Given the description of an element on the screen output the (x, y) to click on. 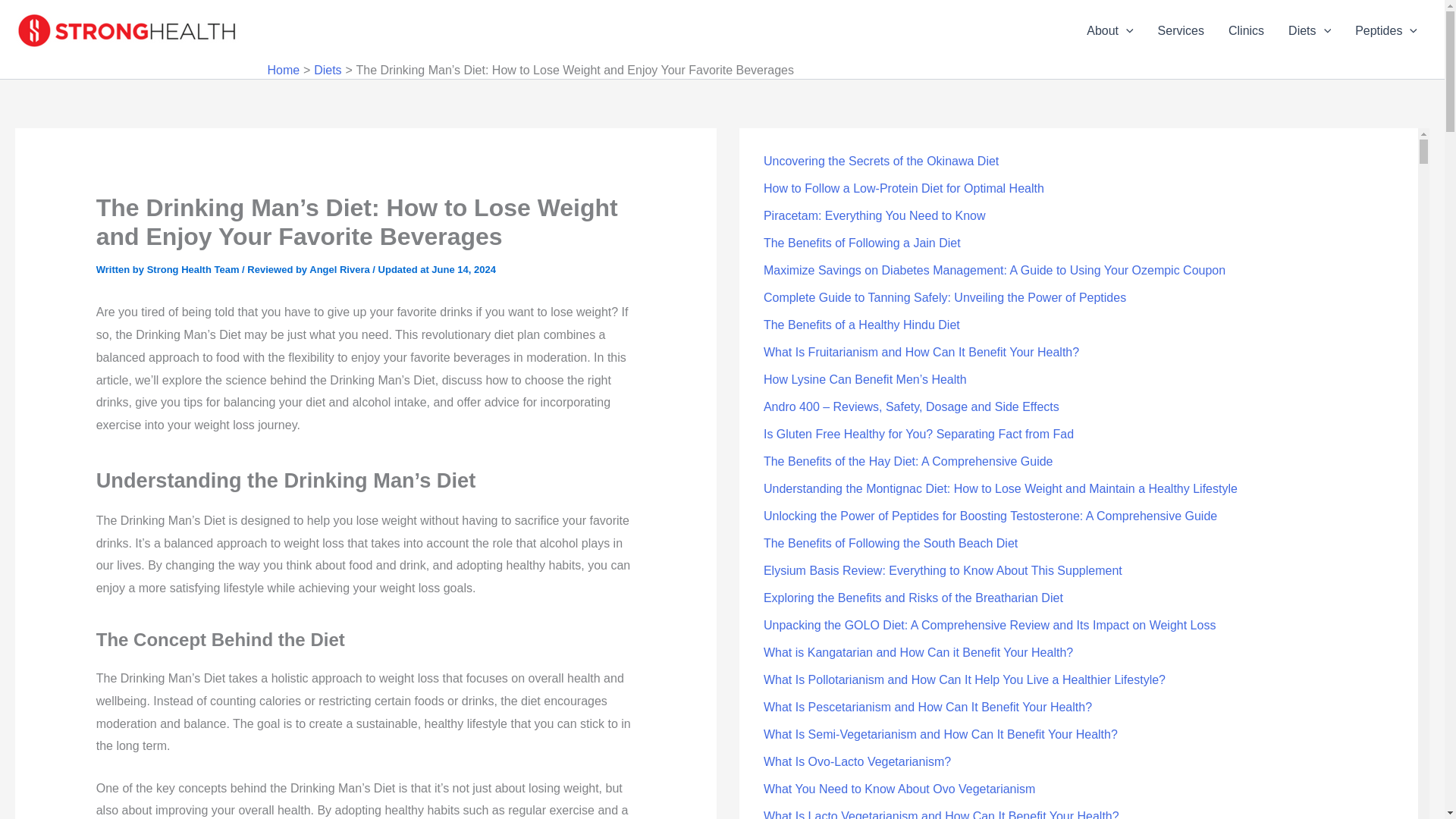
Peptides (1385, 30)
Strong-Health-Logo - Strong Health (128, 30)
About (1109, 30)
Diets (327, 69)
Diets (1309, 30)
Services (1180, 30)
Clinics (1245, 30)
View all posts by Strong Health Team (194, 269)
Home (282, 69)
